Given the description of an element on the screen output the (x, y) to click on. 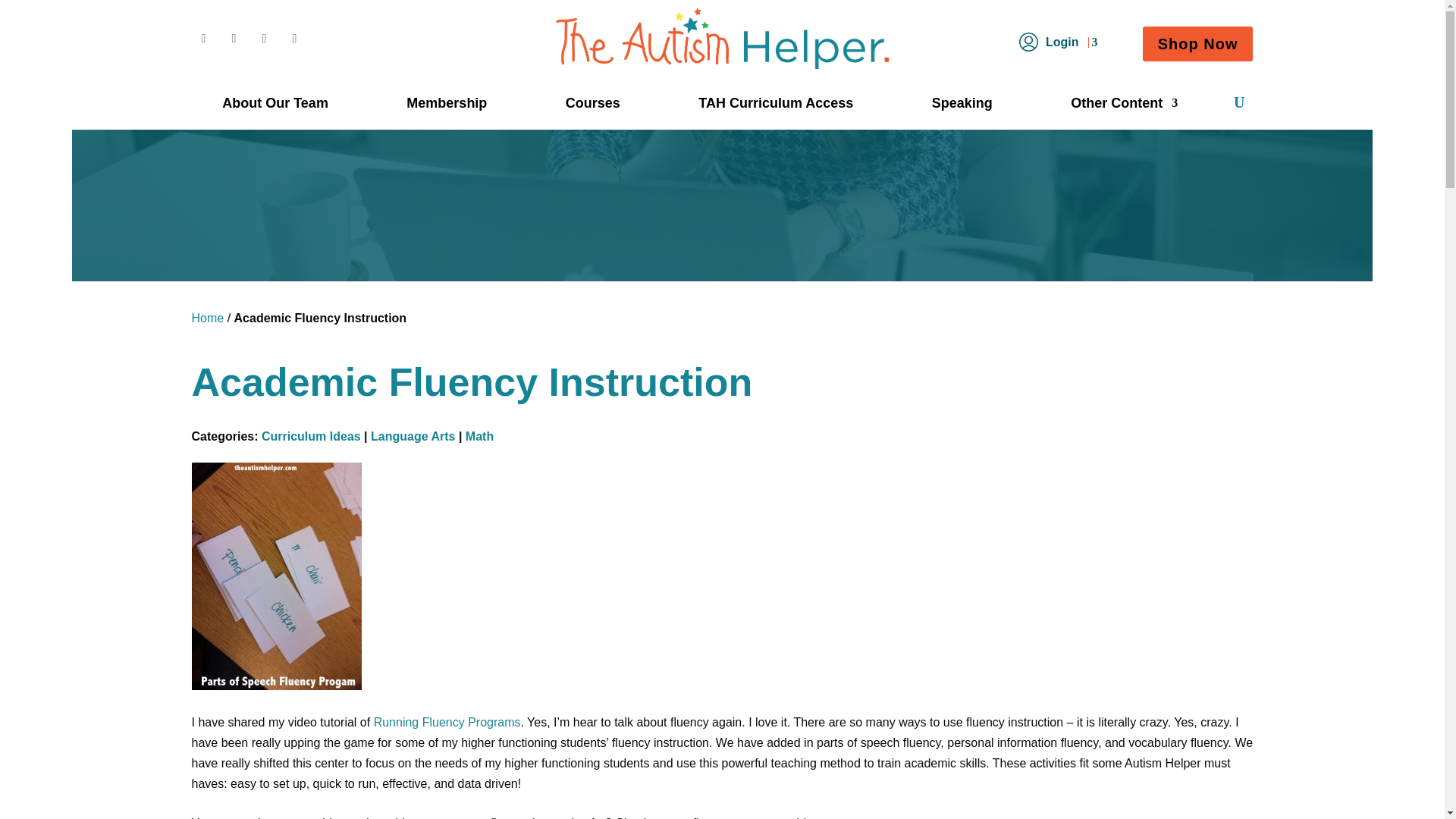
TAH Curriculum Access (775, 105)
Other Content (1123, 105)
Follow on Pinterest (233, 38)
Follow on Youtube (263, 38)
Membership (446, 105)
Courses (593, 105)
Shop Now (1197, 43)
Login (1056, 44)
About Our Team (275, 105)
TAH-logo (722, 37)
Follow on Facebook (202, 38)
Speaking (961, 105)
Follow on Instagram (293, 38)
